Given the description of an element on the screen output the (x, y) to click on. 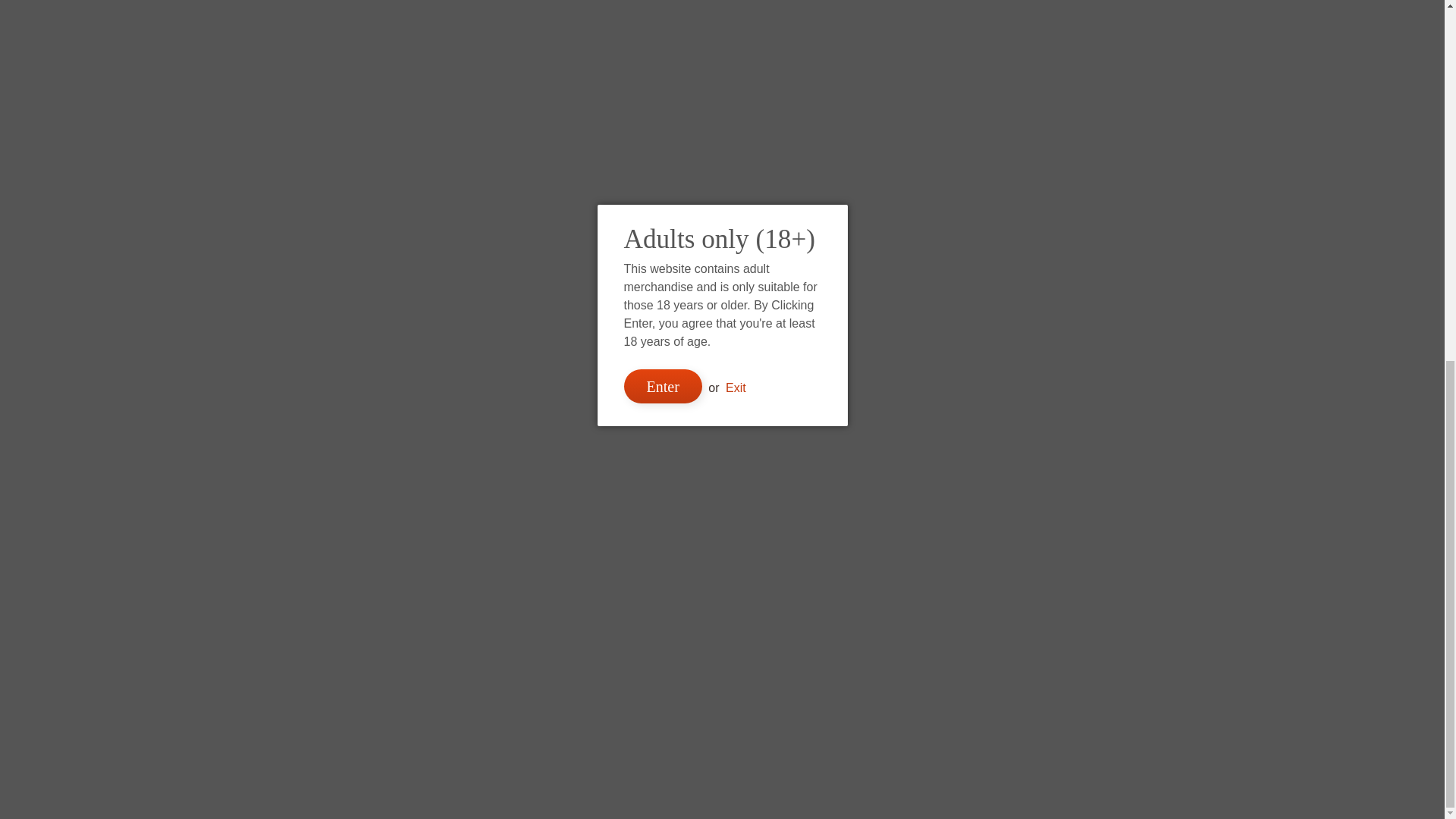
Venmo (813, 660)
Mastercard (740, 660)
Share on Facebook (890, 26)
JCB (702, 660)
Shopify theme by Rawsterne (722, 775)
Subscribe (316, 262)
Facebook (288, 94)
American Express (593, 660)
Party Supplies (368, 13)
PayPal (777, 660)
Discover (666, 660)
Diners Club (630, 660)
